Given the description of an element on the screen output the (x, y) to click on. 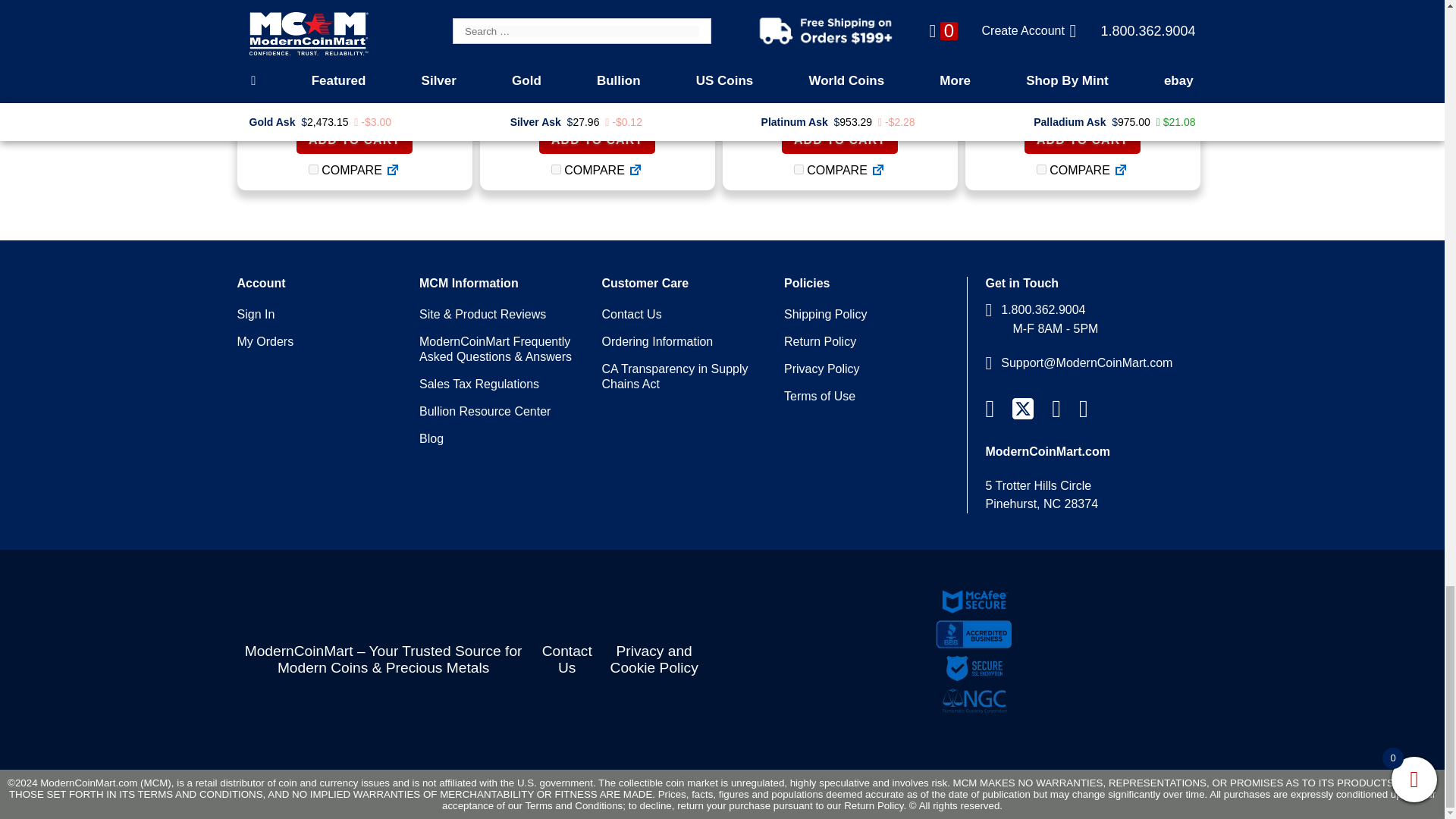
Compare Page (635, 169)
on (555, 169)
Compare Page (392, 169)
Compare Page (877, 169)
on (1041, 169)
Compare Page (1120, 169)
on (313, 169)
on (798, 169)
